Given the description of an element on the screen output the (x, y) to click on. 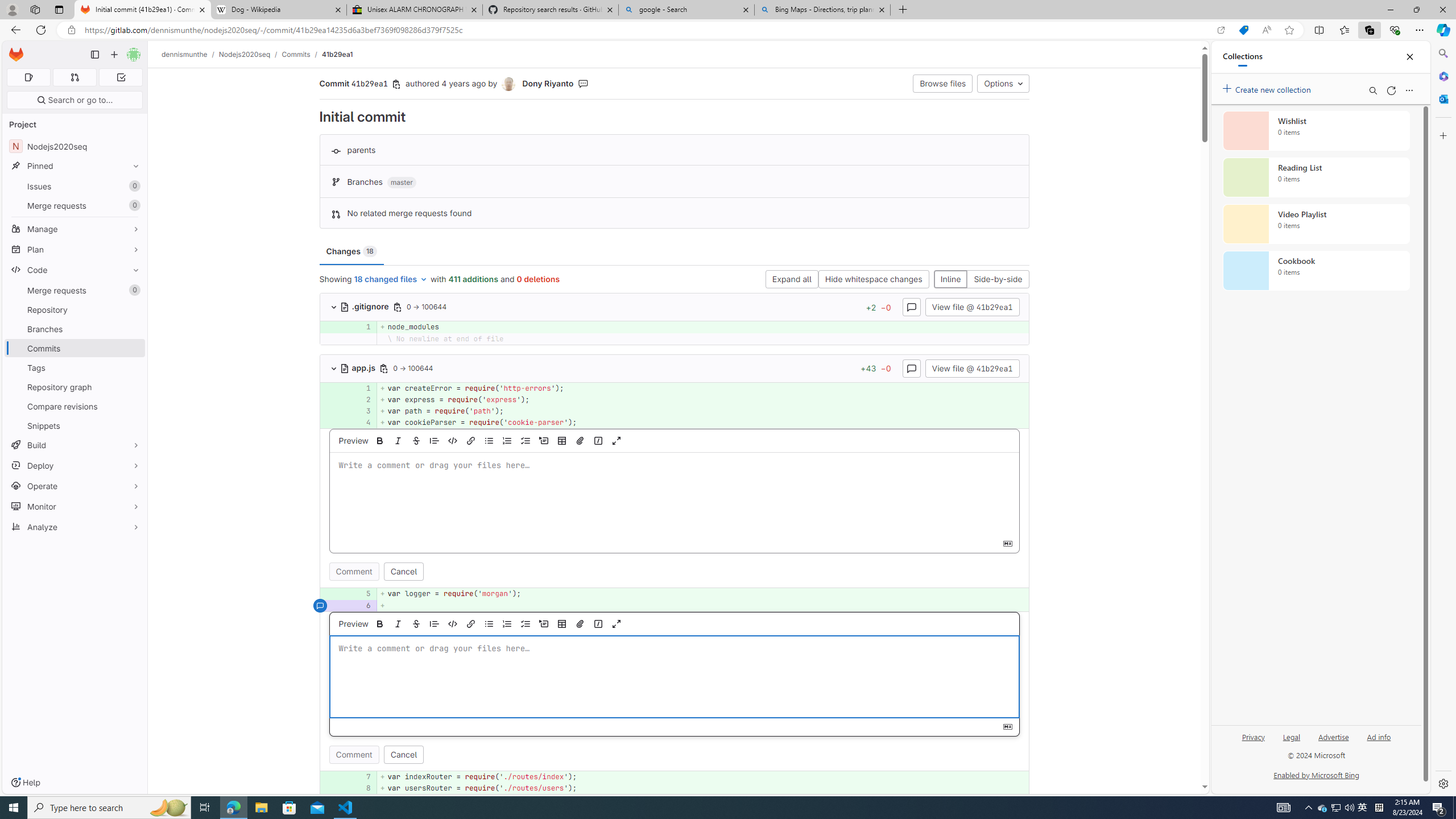
5 (360, 594)
AutomationID: 4a68969ef8e858229267b842dedf42ab5dde4d50_0_6 (674, 605)
Create new... (113, 54)
Add a comment to this line  (333, 788)
41b29ea1 (337, 53)
Open in app (1220, 29)
Skip to main content (13, 49)
Comment (354, 754)
Manage (74, 228)
N Nodejs2020seq (74, 145)
2 (362, 399)
AutomationID: 4a68969ef8e858229267b842dedf42ab5dde4d50_0_3 (674, 410)
Repository (74, 309)
More options menu (1409, 90)
Pin Tags (132, 367)
